Given the description of an element on the screen output the (x, y) to click on. 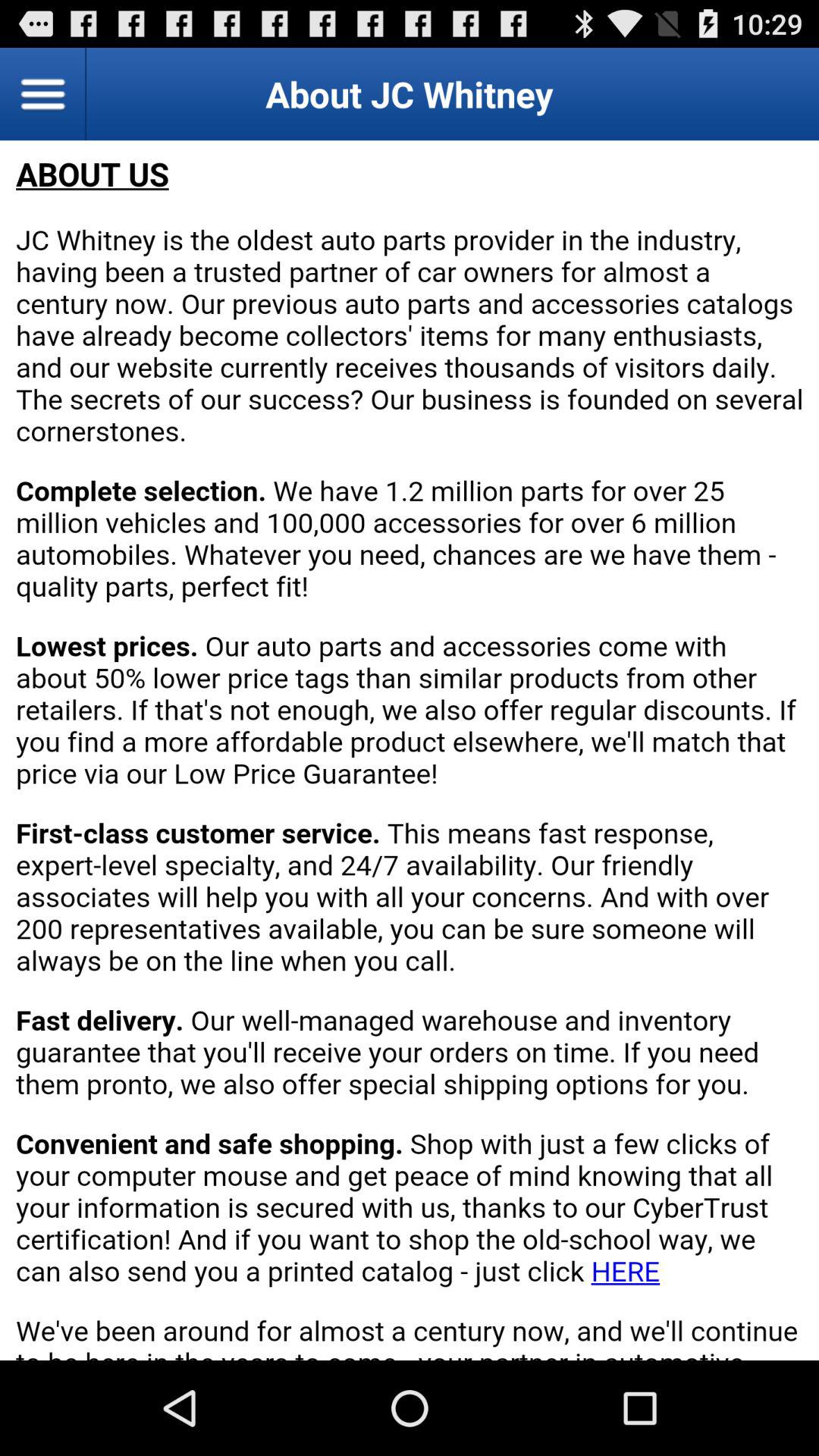
about aus (409, 750)
